Given the description of an element on the screen output the (x, y) to click on. 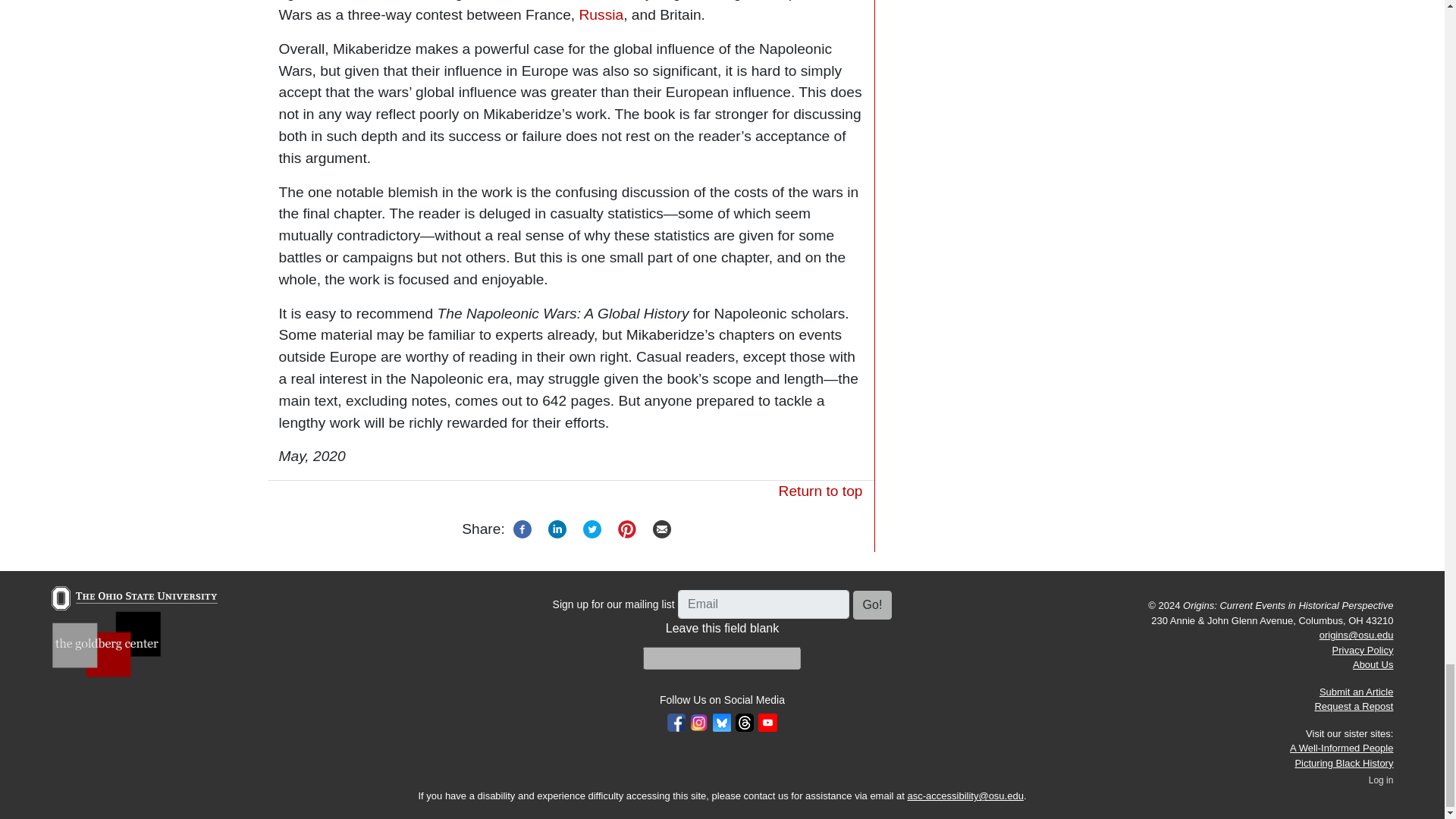
Russia (601, 14)
Pinterest (627, 528)
Twitter (592, 528)
Return to top (820, 490)
Facebook (522, 528)
Friday, May 15, 2020 - 16:15 (312, 455)
Go! (872, 604)
Linkedin (557, 528)
Email (662, 528)
